Given the description of an element on the screen output the (x, y) to click on. 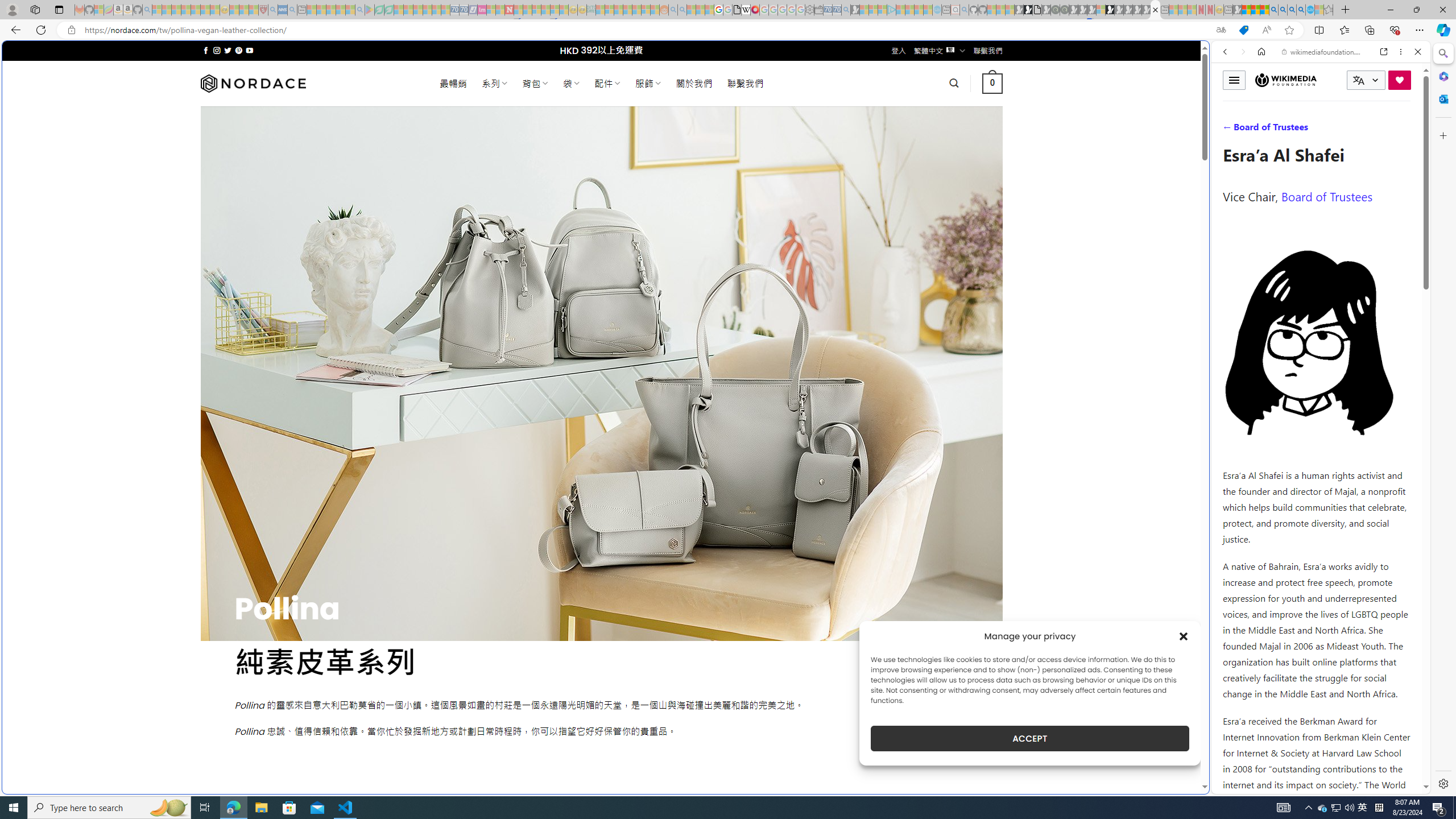
Home | Sky Blue Bikes - Sky Blue Bikes - Sleeping (936, 9)
Show translate options (1220, 29)
Wiktionary (1315, 380)
Settings and more (Alt+F) (1419, 29)
Robert H. Shmerling, MD - Harvard Health - Sleeping (263, 9)
Search Filter, WEB (1230, 129)
